Given the description of an element on the screen output the (x, y) to click on. 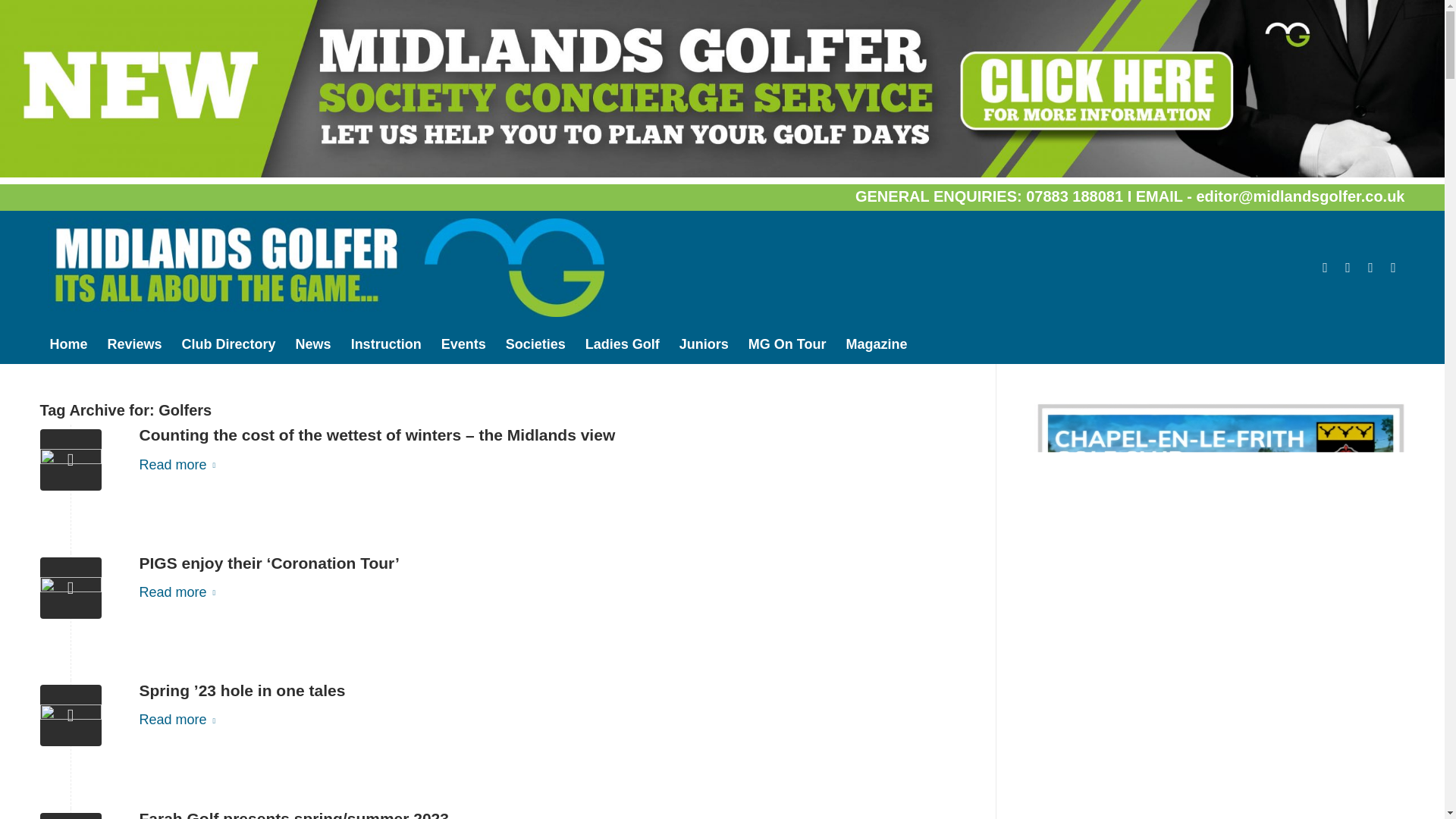
midgolfer-new (325, 267)
Societies (535, 344)
Events (463, 344)
Ladies Golf (622, 344)
Youtube (1369, 267)
qDxX18t8 (69, 816)
Home (68, 344)
Lily Grice 2 (69, 715)
News (312, 344)
Juniors (703, 344)
